Given the description of an element on the screen output the (x, y) to click on. 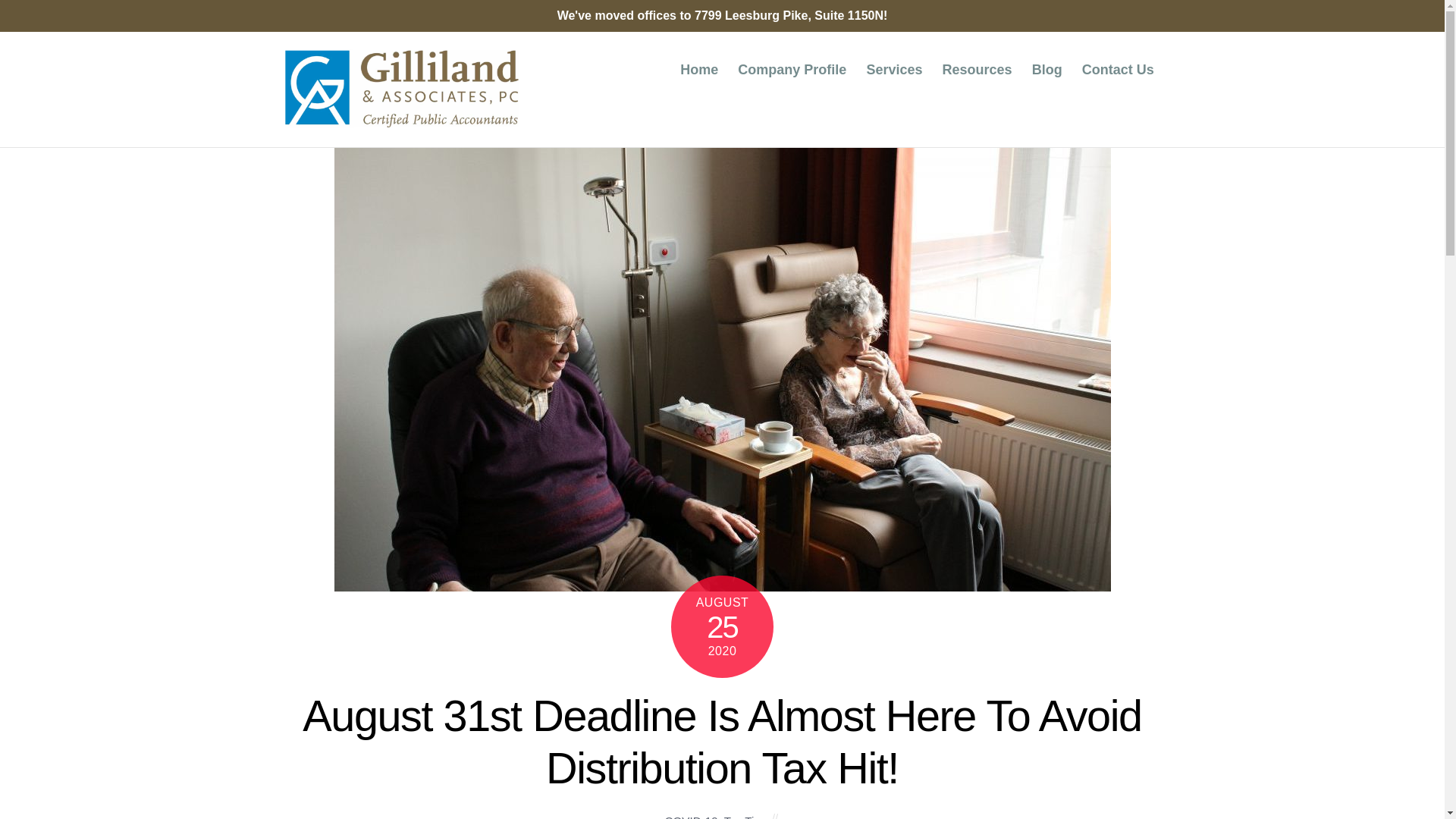
Services (895, 69)
Blog (1046, 69)
Resources (977, 69)
Tax Tips (745, 816)
Home (698, 69)
COVID-19 (691, 816)
Company Profile (793, 69)
Contact Us (1117, 69)
